Given the description of an element on the screen output the (x, y) to click on. 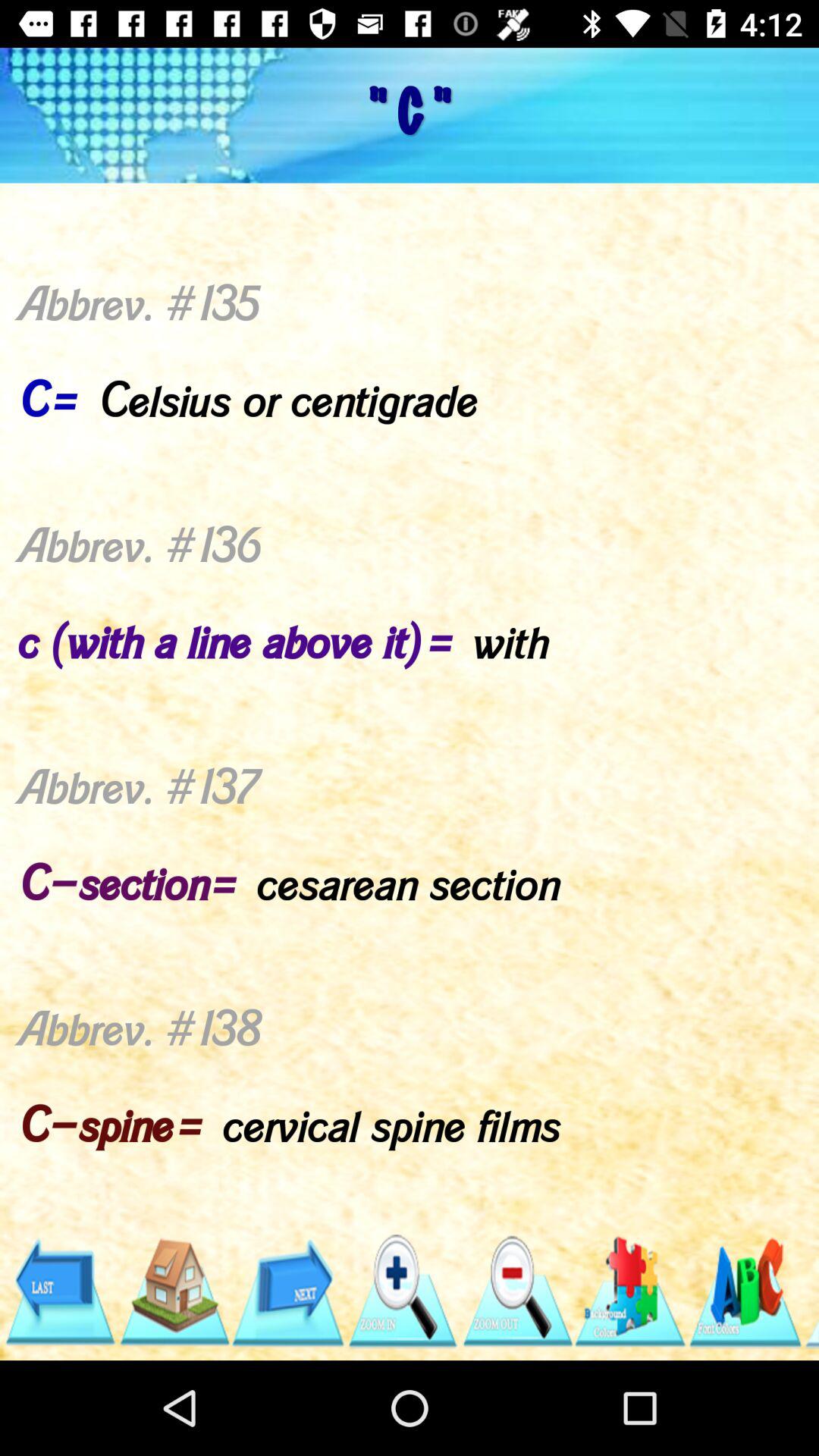
open icon below abbrev 	135	 	c	 app (630, 1291)
